Given the description of an element on the screen output the (x, y) to click on. 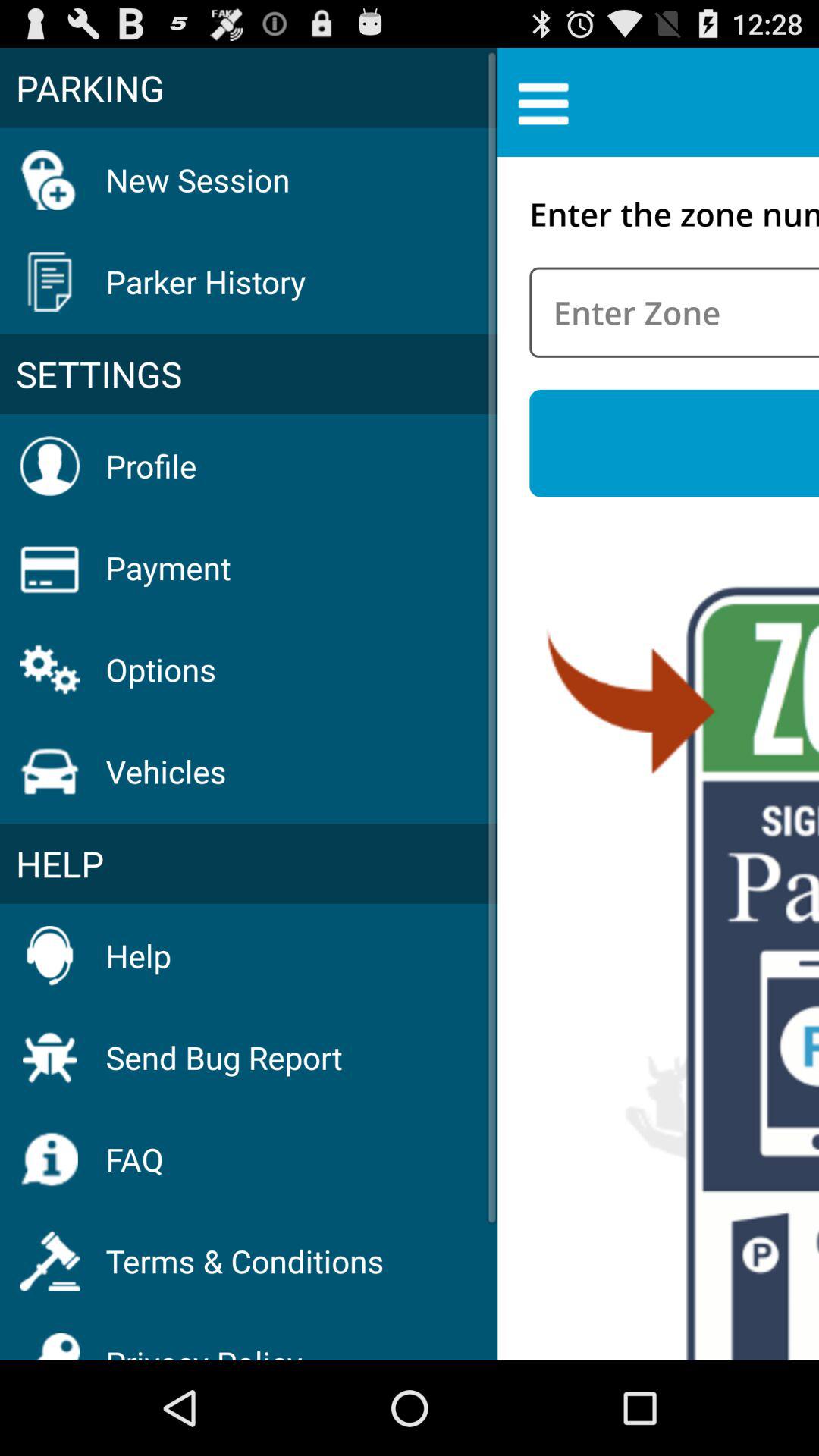
select the item below parker history icon (248, 373)
